Given the description of an element on the screen output the (x, y) to click on. 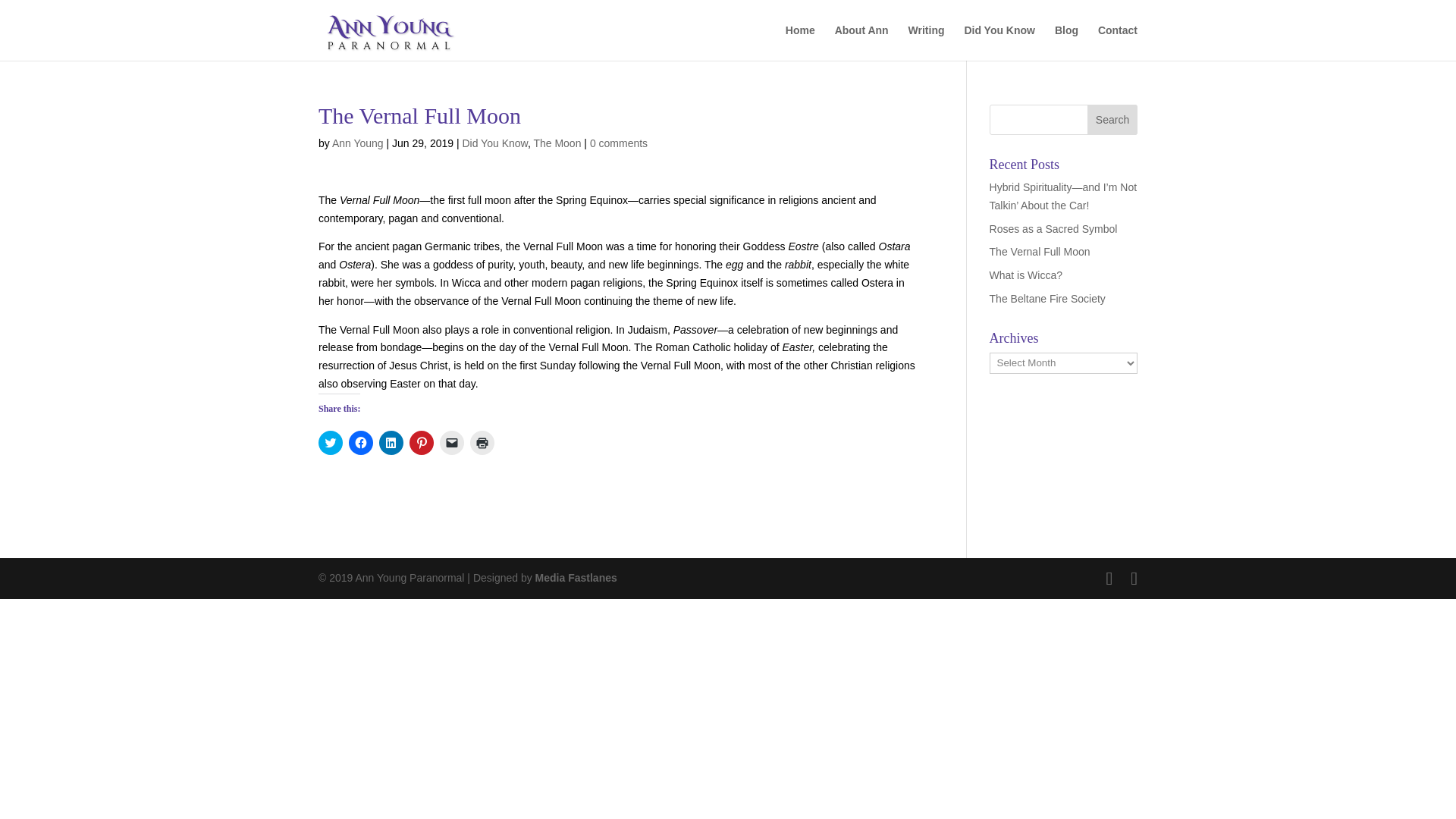
Contact (1117, 42)
Search (1112, 119)
The Vernal Full Moon (1040, 251)
Media Fastlanes (576, 577)
Click to share on LinkedIn (390, 442)
Did You Know (999, 42)
The Beltane Fire Society (1047, 298)
0 comments (618, 143)
Did You Know (494, 143)
The Moon (556, 143)
Writing (926, 42)
About Ann (861, 42)
Click to share on Facebook (360, 442)
Ann Young (357, 143)
Roses as a Sacred Symbol (1054, 228)
